Given the description of an element on the screen output the (x, y) to click on. 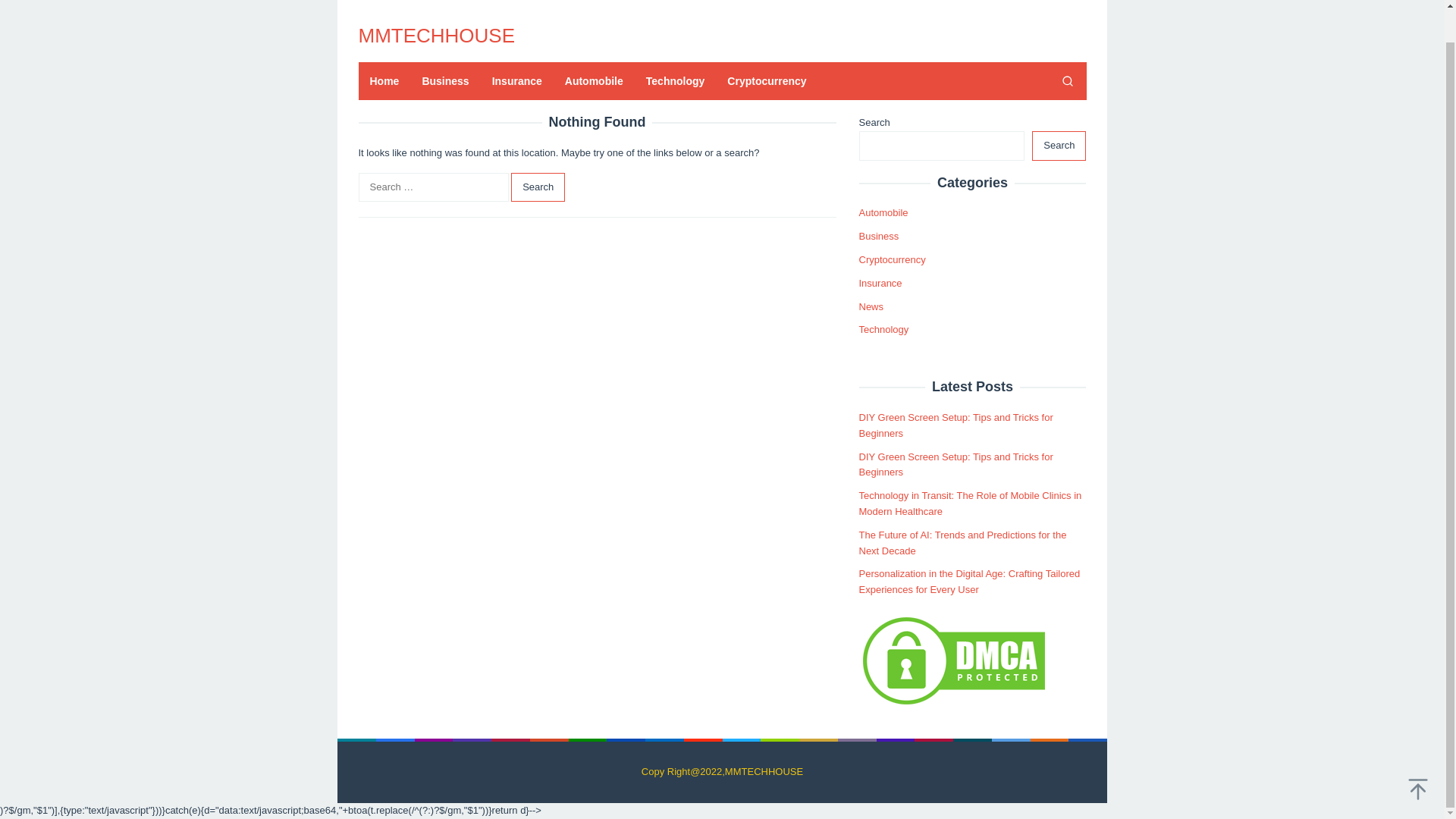
The Future of AI: Trends and Predictions for the Next Decade (962, 542)
Automobile (883, 212)
Search (1067, 80)
Insurance (516, 80)
MMTECHHOUSE (436, 35)
Technology (675, 80)
MMTECHHOUSE (436, 35)
Home (384, 80)
